Given the description of an element on the screen output the (x, y) to click on. 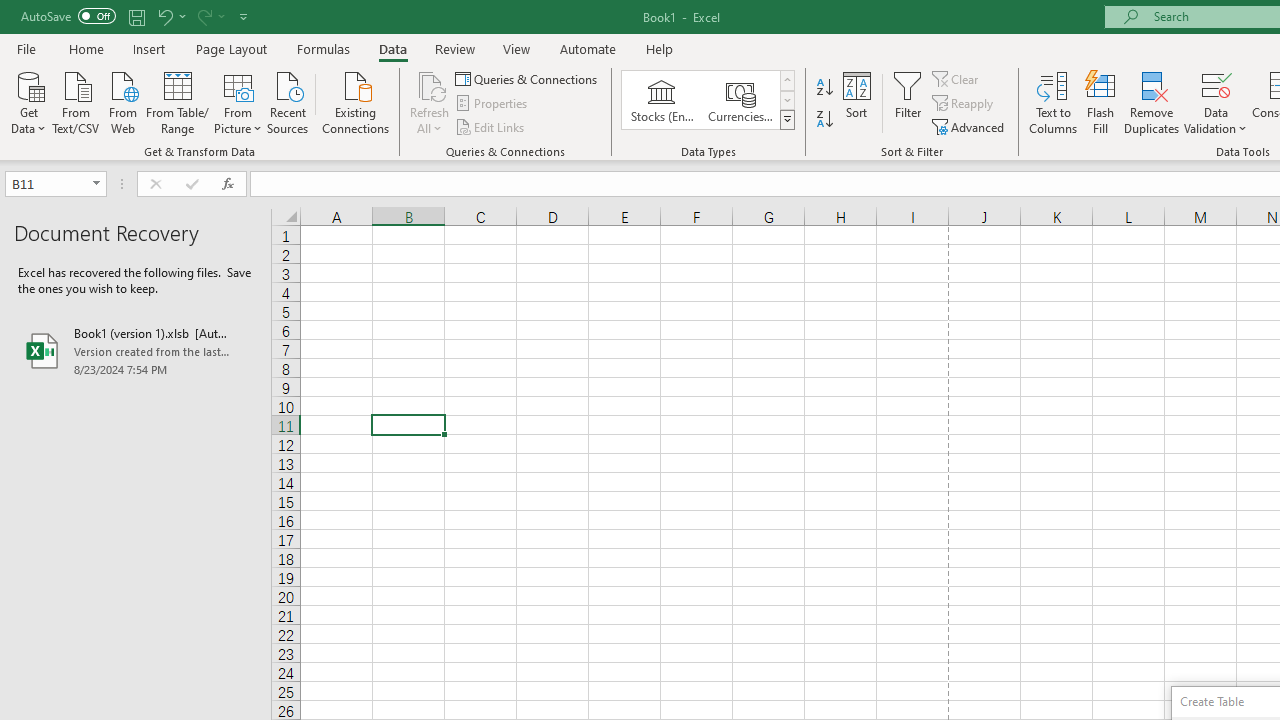
From Table/Range (177, 101)
Flash Fill (1101, 102)
Save (136, 15)
Sort Z to A (824, 119)
Row Down (786, 100)
Data Validation... (1215, 84)
Text to Columns... (1053, 102)
